Given the description of an element on the screen output the (x, y) to click on. 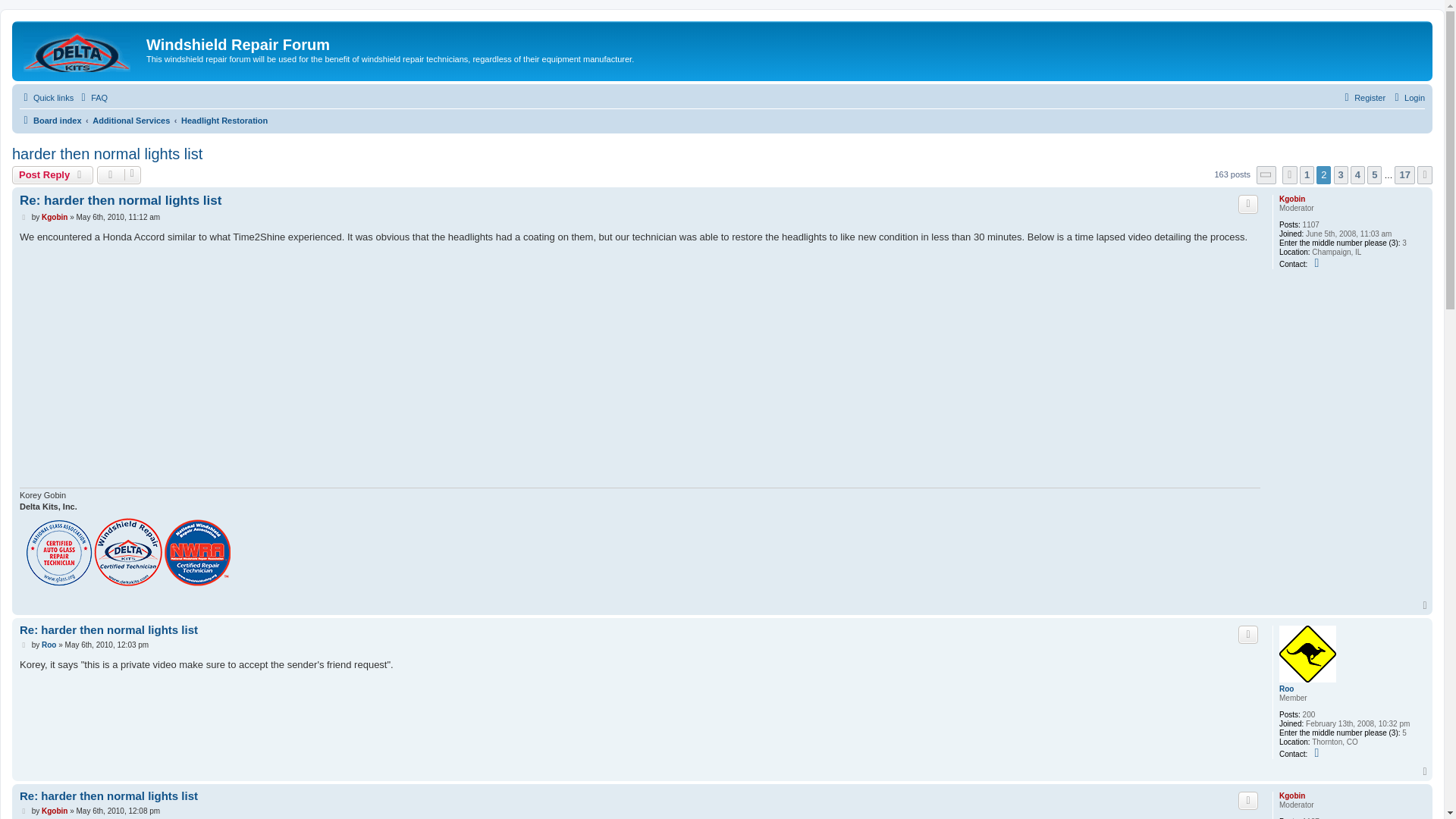
Contact Roo (1316, 752)
Contact Kgobin (1316, 263)
Additional Services (131, 120)
Page of (1266, 175)
Headlight Restoration (223, 120)
Contact Kgobin (1316, 263)
Quote (1248, 203)
Post Reply (52, 175)
Frequently Asked Questions (92, 97)
Board index (50, 120)
Roo (1286, 688)
Quick links (47, 97)
Re: harder then normal lights list (109, 630)
Post a reply (52, 175)
Kgobin (1291, 198)
